Given the description of an element on the screen output the (x, y) to click on. 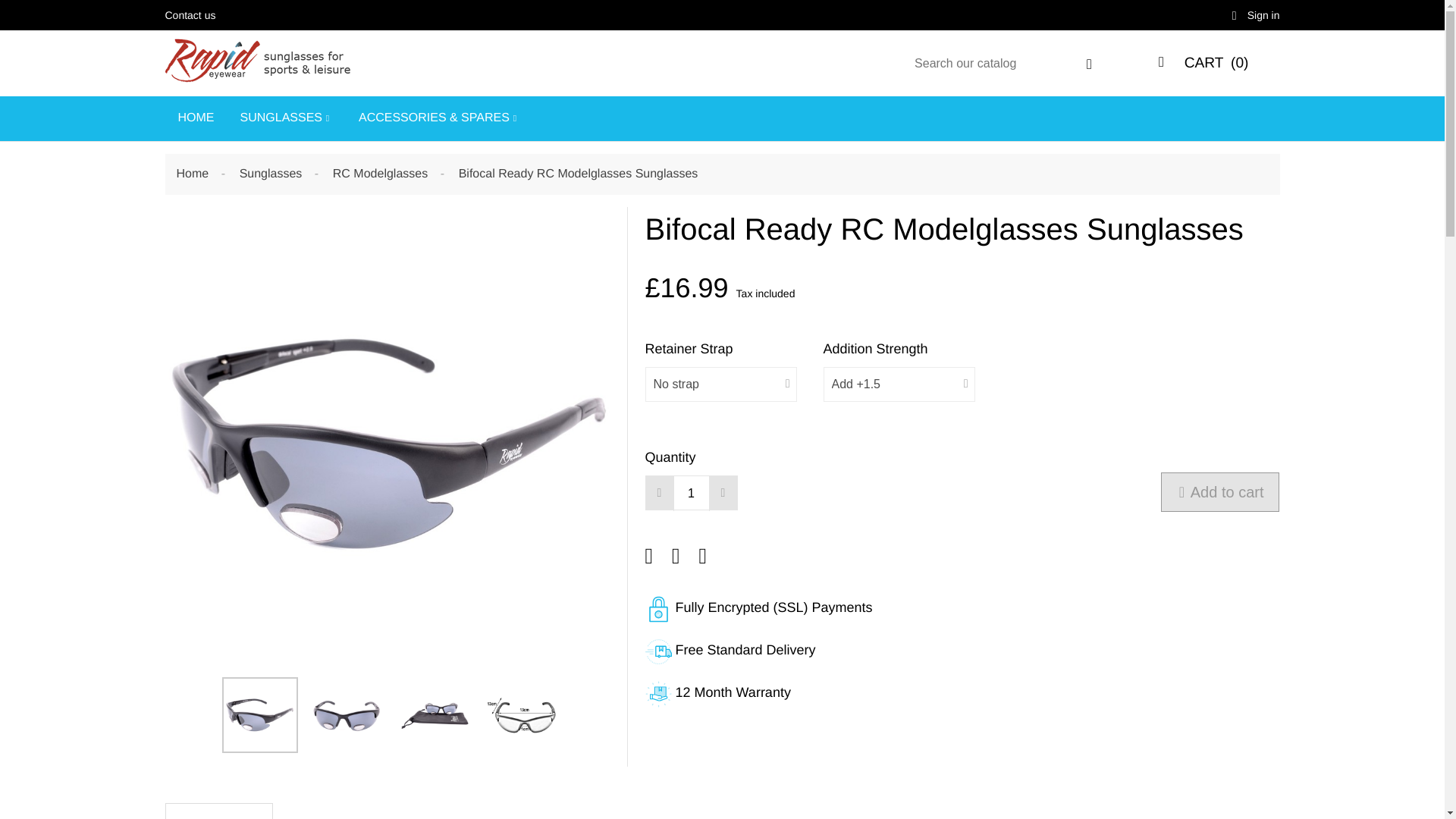
Use our form to contact us (190, 15)
SUNGLASSES (286, 118)
1 (691, 493)
HOME (196, 118)
Contact us (190, 15)
Log in to your customer account (1255, 15)
